Given the description of an element on the screen output the (x, y) to click on. 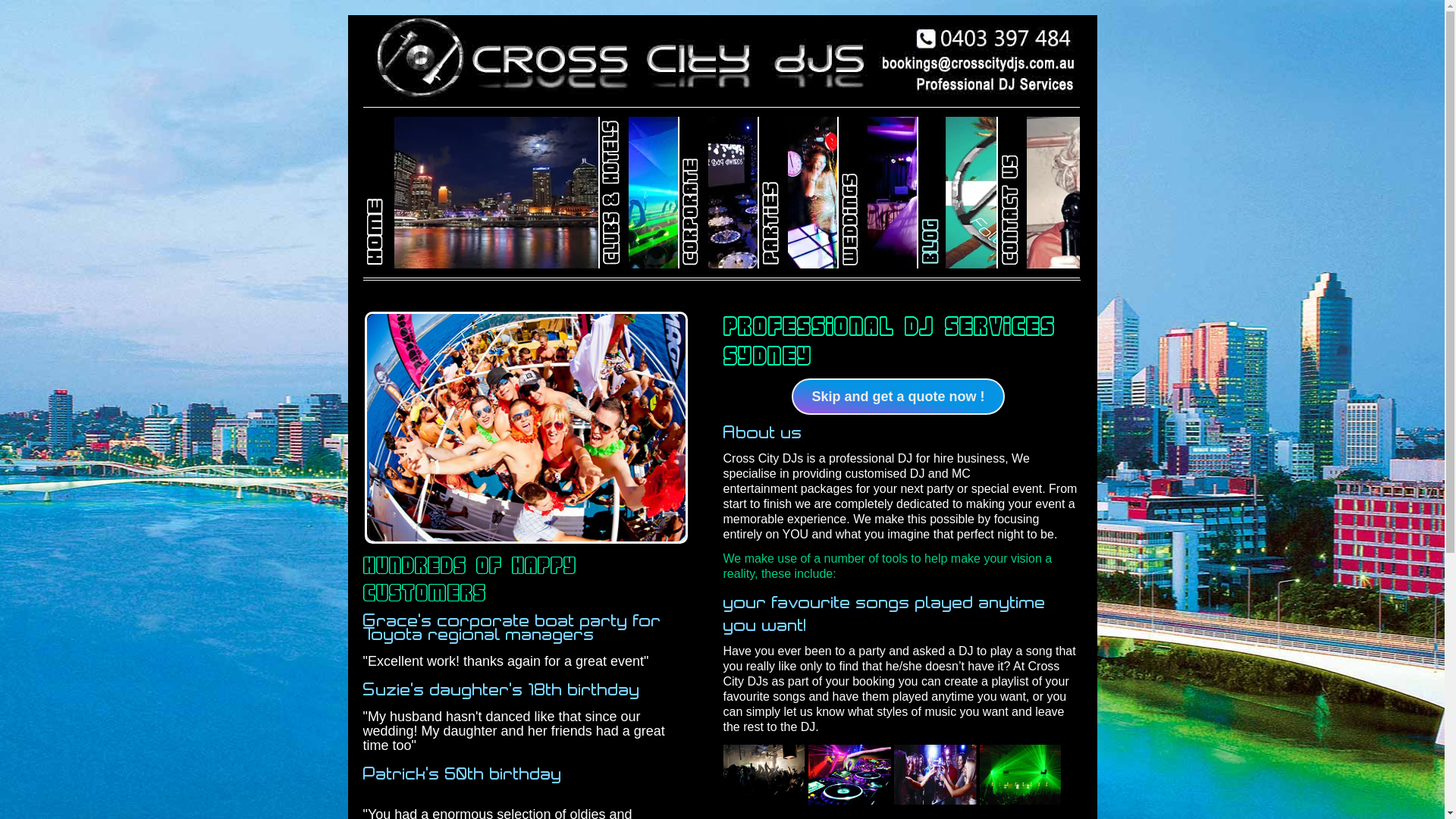
DJ Sydney Element type: hover (891, 774)
#6 (no title) Element type: text (638, 192)
#12 (no title) Element type: text (878, 192)
#8 (no title) Element type: text (719, 192)
#2 (no title) Element type: text (480, 192)
#14 (no title) Element type: text (957, 192)
Skip and get a quote now ! Element type: text (897, 396)
#10 (no title) Element type: text (797, 192)
#18 (no title) Element type: text (1038, 192)
